Given the description of an element on the screen output the (x, y) to click on. 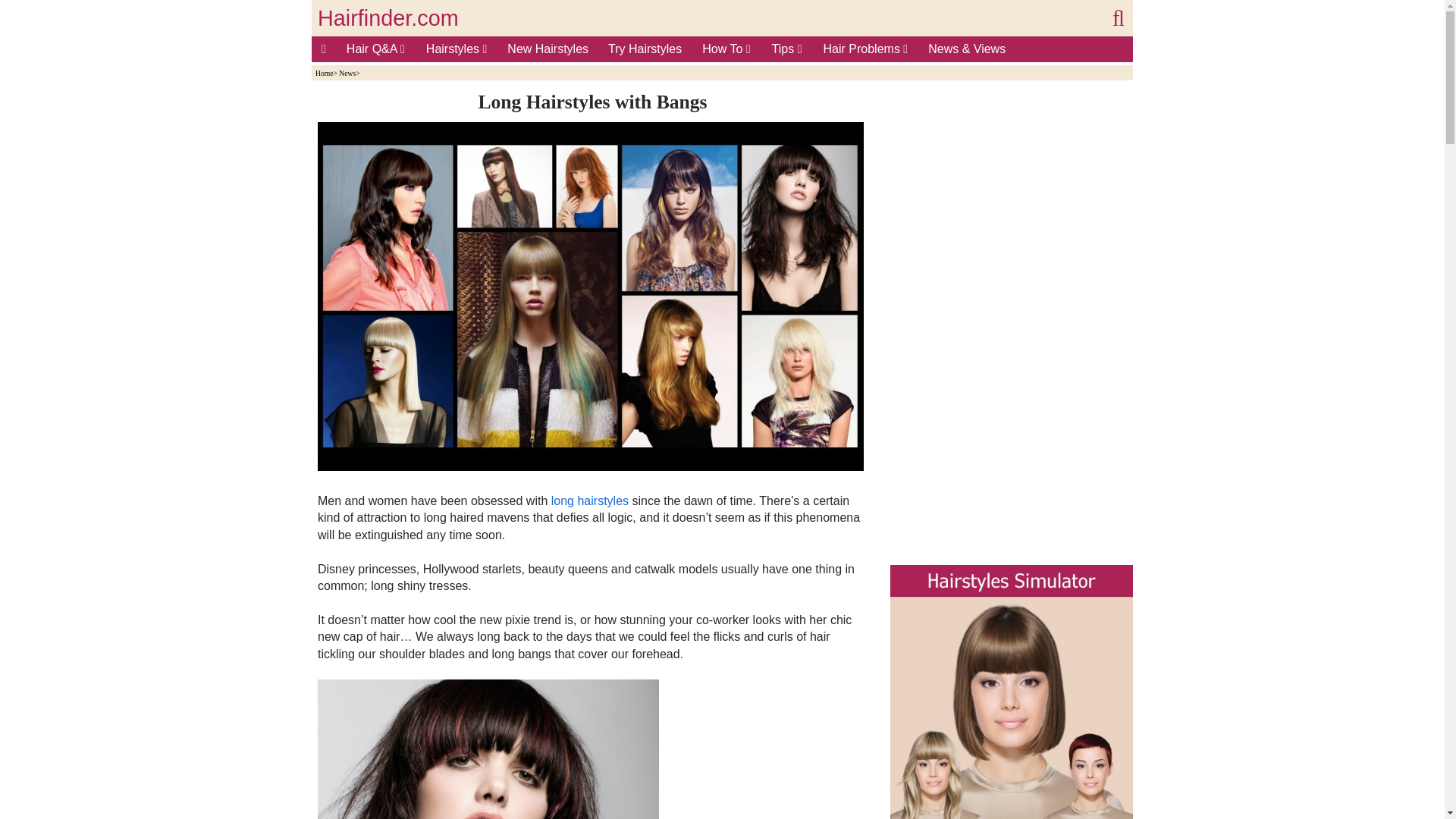
Hairfinder.com (387, 18)
Hairstyles (455, 49)
